Given the description of an element on the screen output the (x, y) to click on. 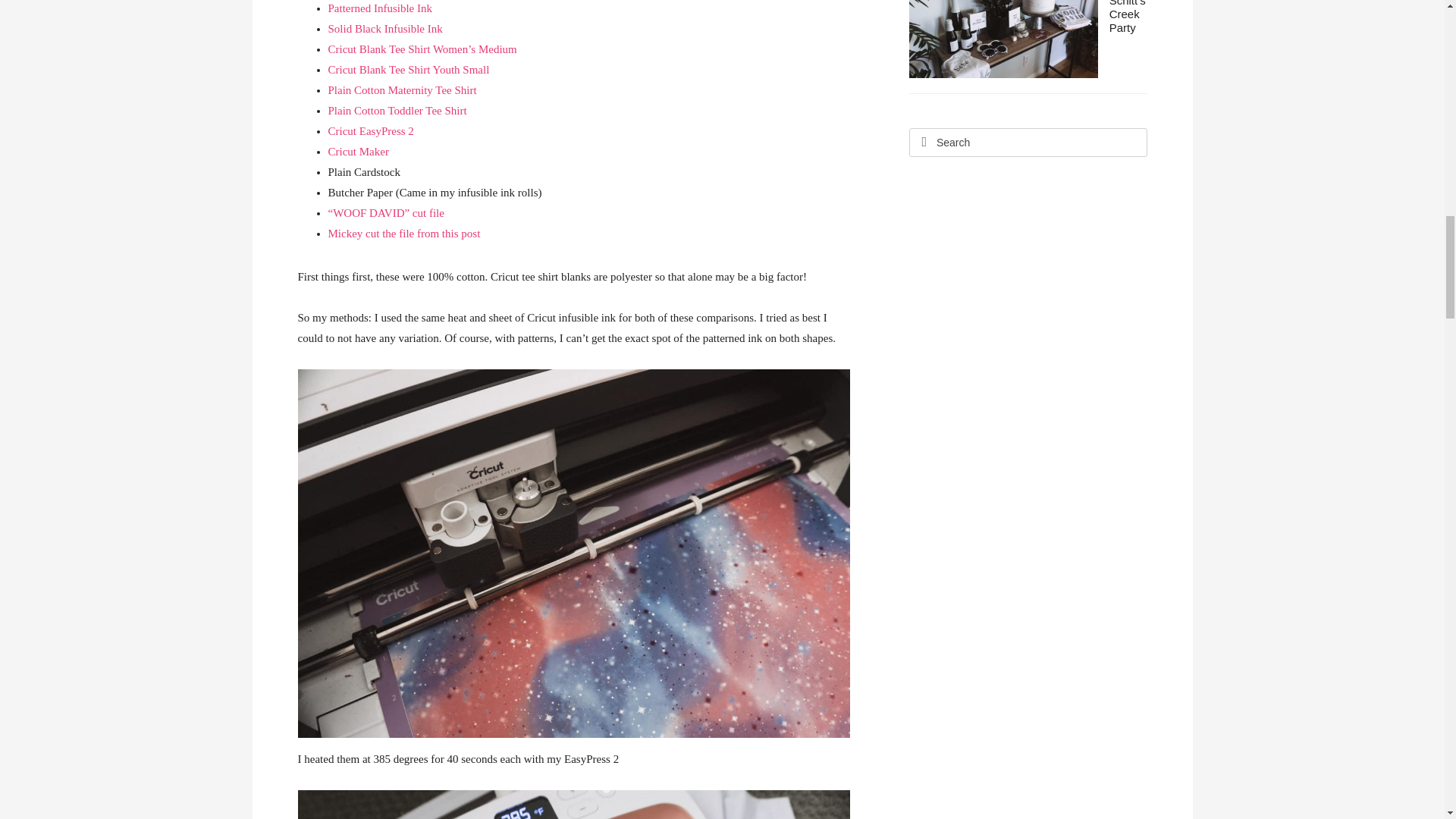
Mickey cut the file from this post (403, 233)
Patterned Infusible Ink (378, 8)
Cricut EasyPress 2 (370, 131)
Plain Cotton Toddler Tee Shirt (396, 110)
Cricut Maker (357, 151)
Cricut Blank Tee Shirt Youth Small (408, 69)
Plain Cotton Maternity Tee Shirt (401, 90)
Solid Black Infusible Ink (384, 28)
